Given the description of an element on the screen output the (x, y) to click on. 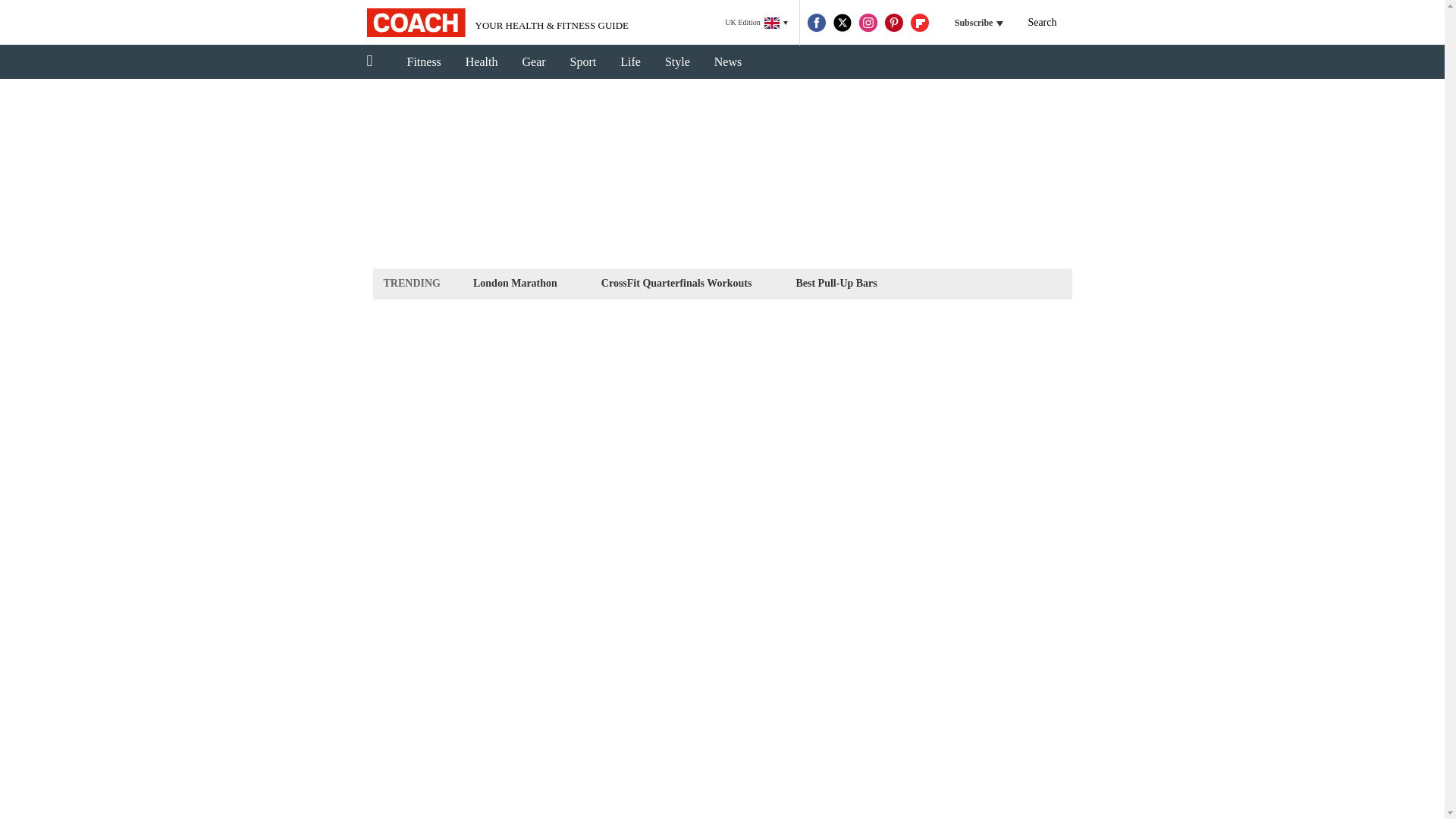
CrossFit Quarterfinals Workouts (676, 282)
Sport (582, 61)
UK Edition (755, 22)
Fitness (423, 61)
Health (481, 61)
Gear (533, 61)
Life (630, 61)
Best Pull-Up Bars (836, 282)
Style (676, 61)
London Marathon (514, 282)
